Given the description of an element on the screen output the (x, y) to click on. 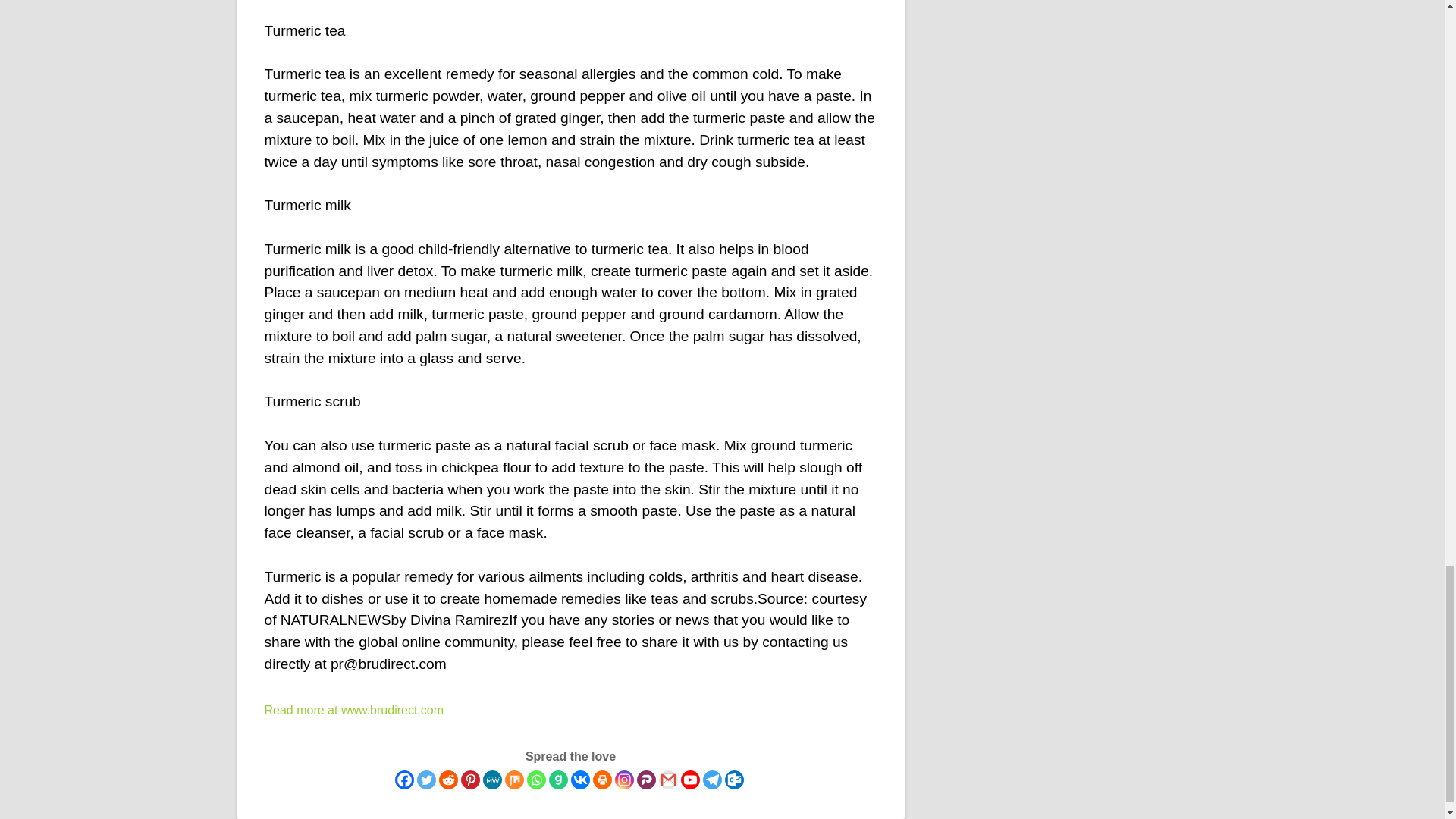
Reddit (447, 779)
Instagram (623, 779)
Facebook (403, 779)
Vkontakte (579, 779)
Read more at www.brudirect.com (353, 709)
Print (601, 779)
Whatsapp (534, 779)
Pinterest (470, 779)
MeWe (490, 779)
Twitter (425, 779)
